Given the description of an element on the screen output the (x, y) to click on. 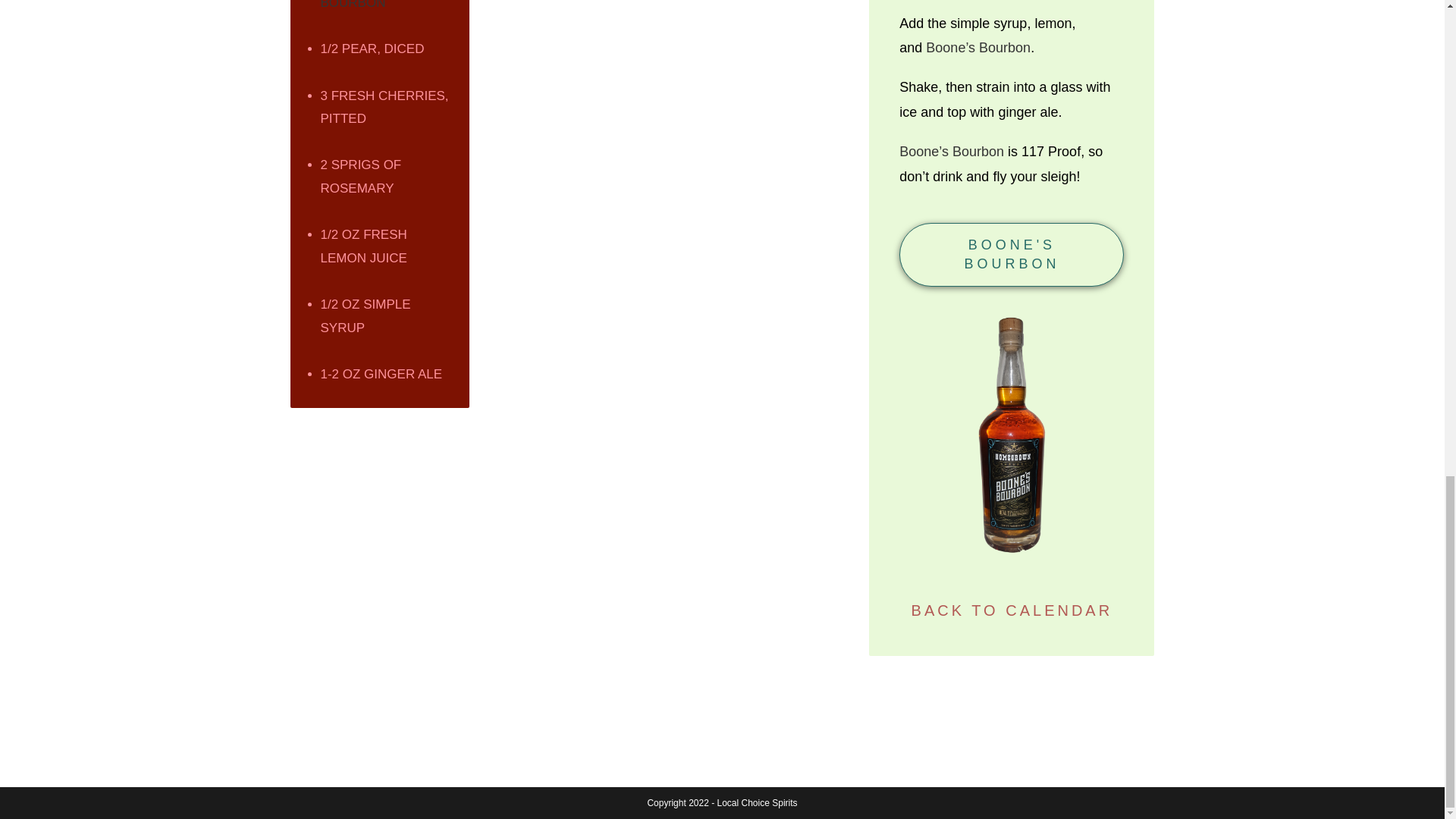
BOONE'S BOURBON (1011, 254)
